Given the description of an element on the screen output the (x, y) to click on. 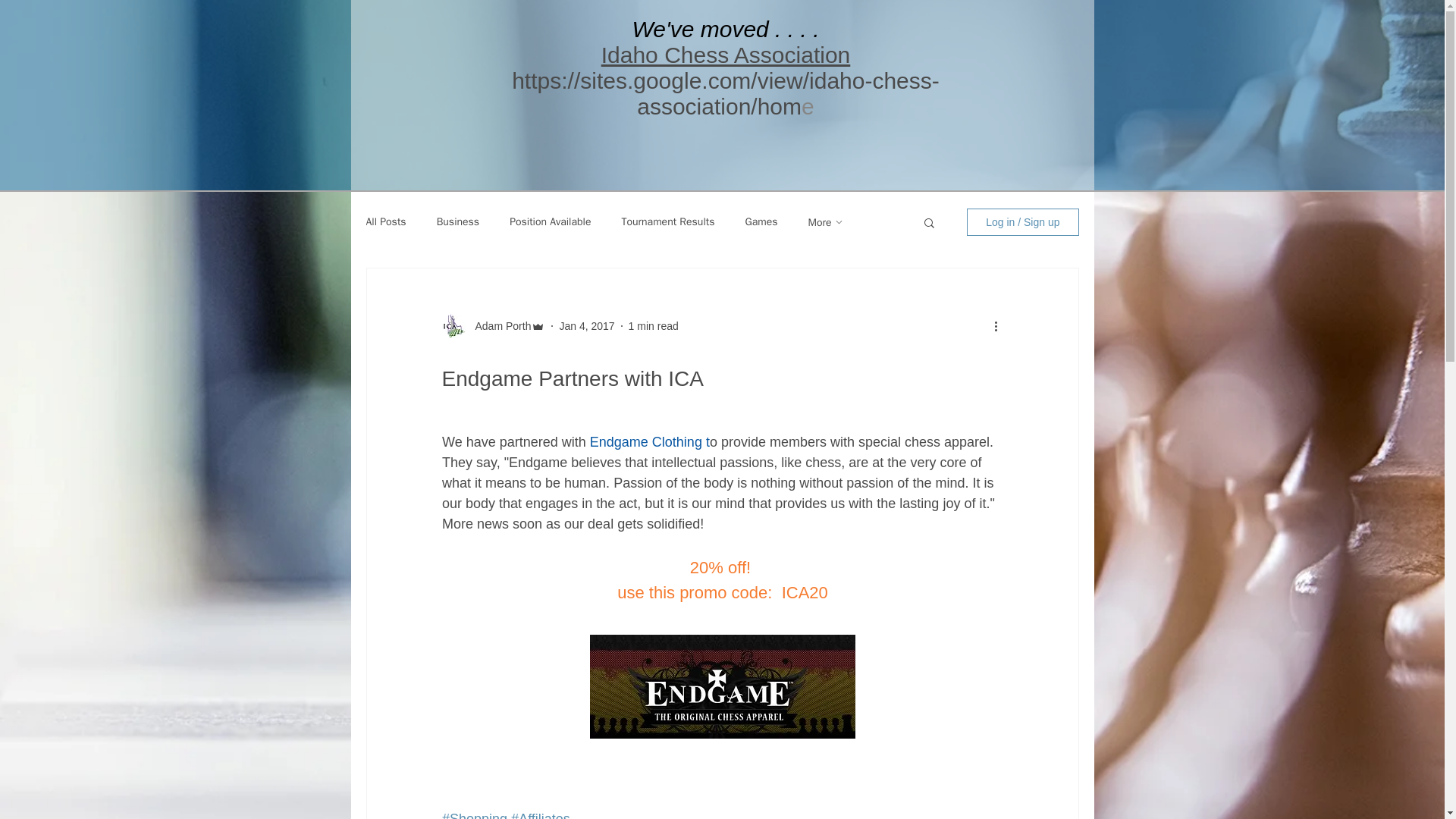
Idaho Chess Association (725, 54)
Games (760, 222)
Endgame Clothing (645, 441)
Tournament Results (667, 222)
Jan 4, 2017 (586, 326)
1 min read (653, 326)
We've moved . . . . (725, 28)
Adam Porth (498, 326)
All Posts (385, 222)
Position Available (550, 222)
